Given the description of an element on the screen output the (x, y) to click on. 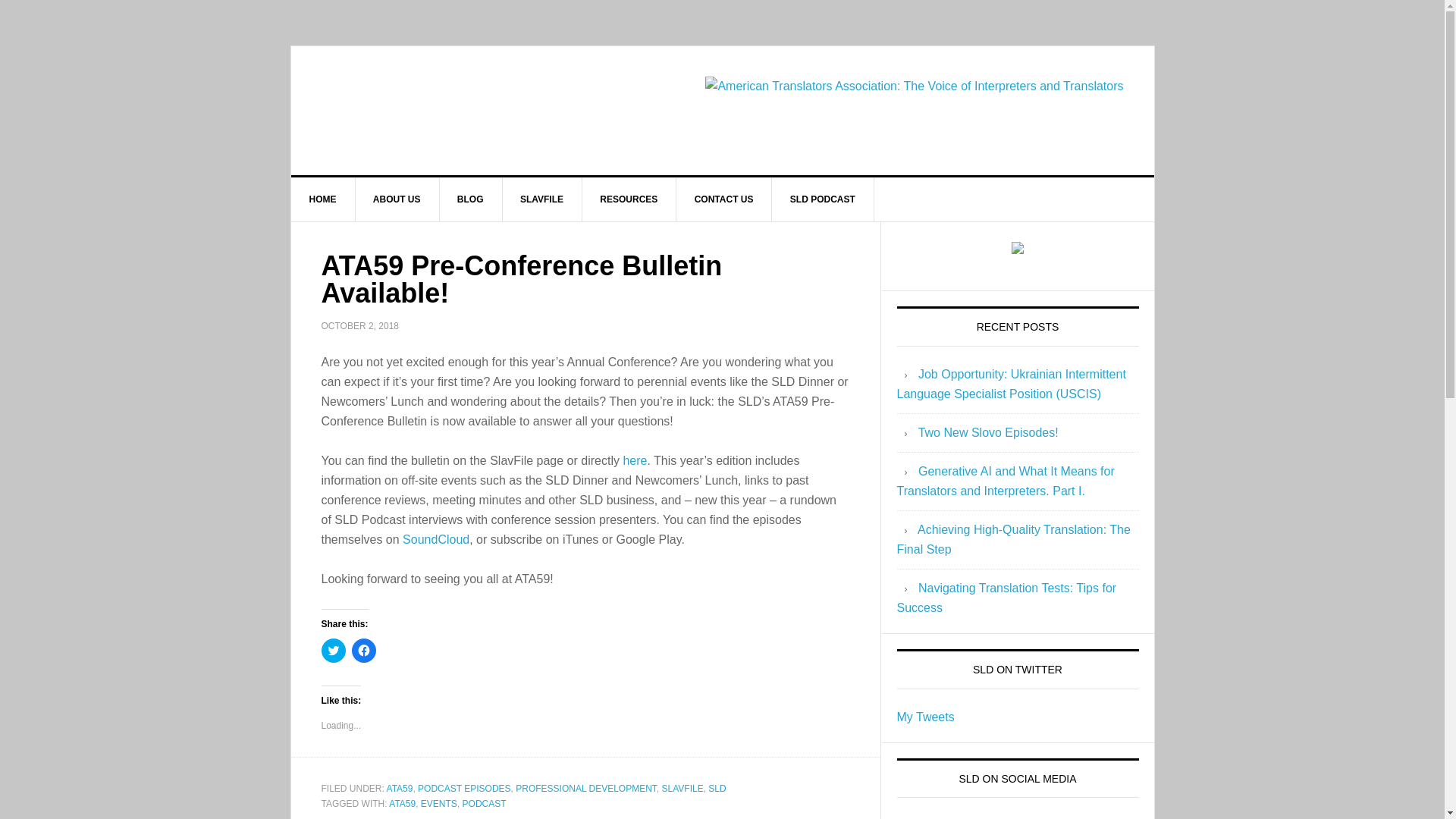
PODCAST EPISODES (464, 787)
BLOG (470, 199)
PODCAST (484, 803)
EVENTS (438, 803)
My Tweets (924, 716)
Two New Slovo Episodes! (988, 431)
SLAVFILE (542, 199)
SLD (716, 787)
Click to share on Twitter (333, 650)
here (634, 459)
